Given the description of an element on the screen output the (x, y) to click on. 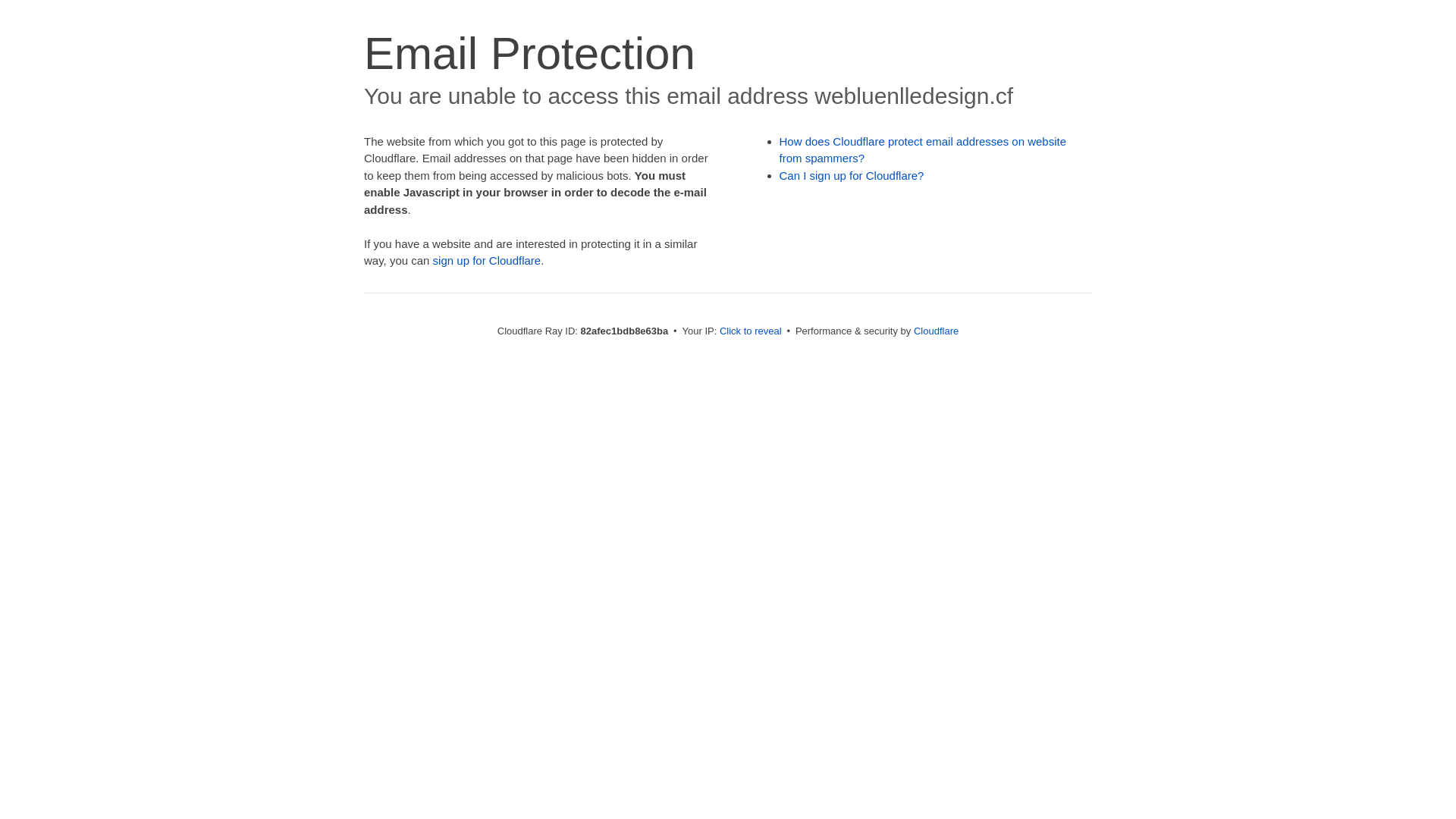
Cloudflare Element type: text (935, 330)
Click to reveal Element type: text (750, 330)
sign up for Cloudflare Element type: text (487, 260)
Can I sign up for Cloudflare? Element type: text (851, 175)
